Given the description of an element on the screen output the (x, y) to click on. 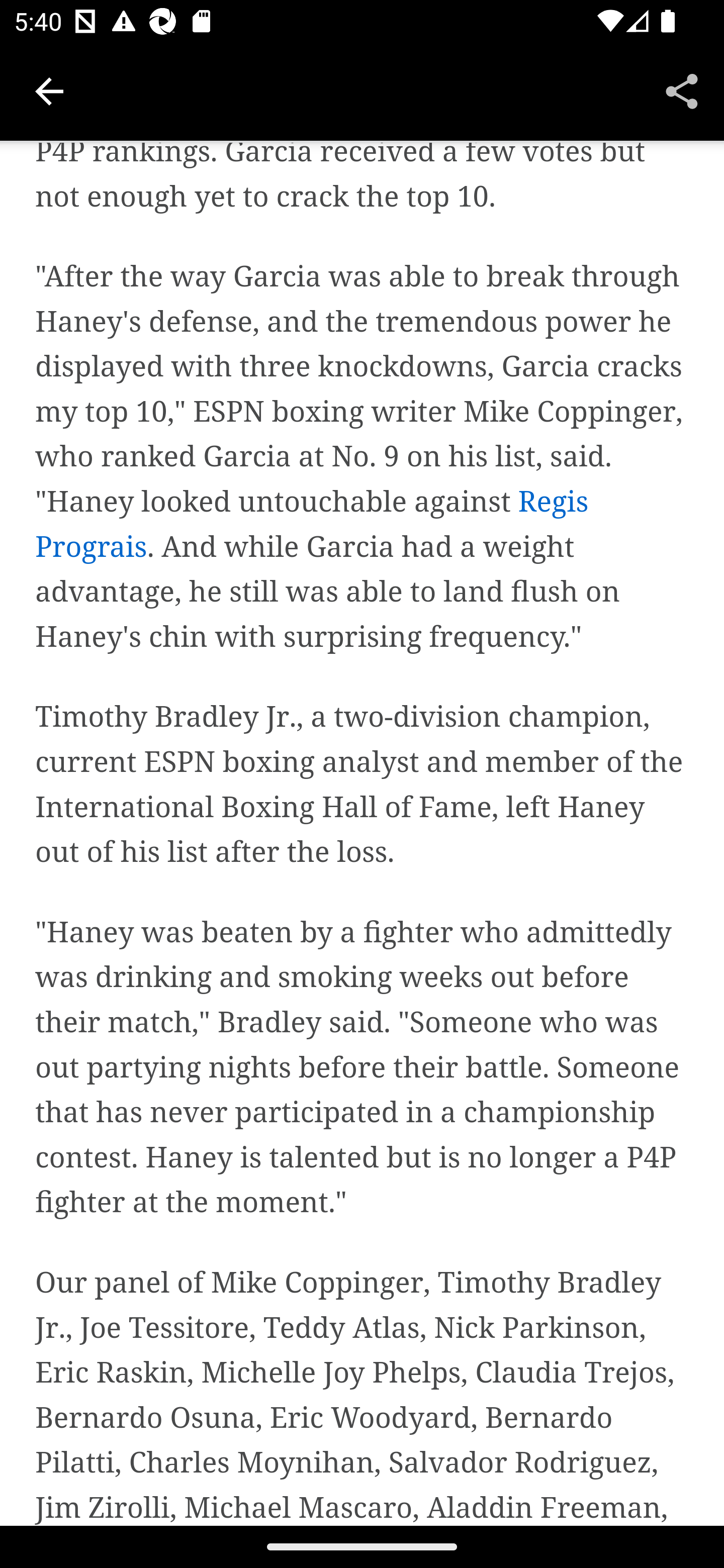
Navigate up (49, 91)
Share (681, 90)
